Given the description of an element on the screen output the (x, y) to click on. 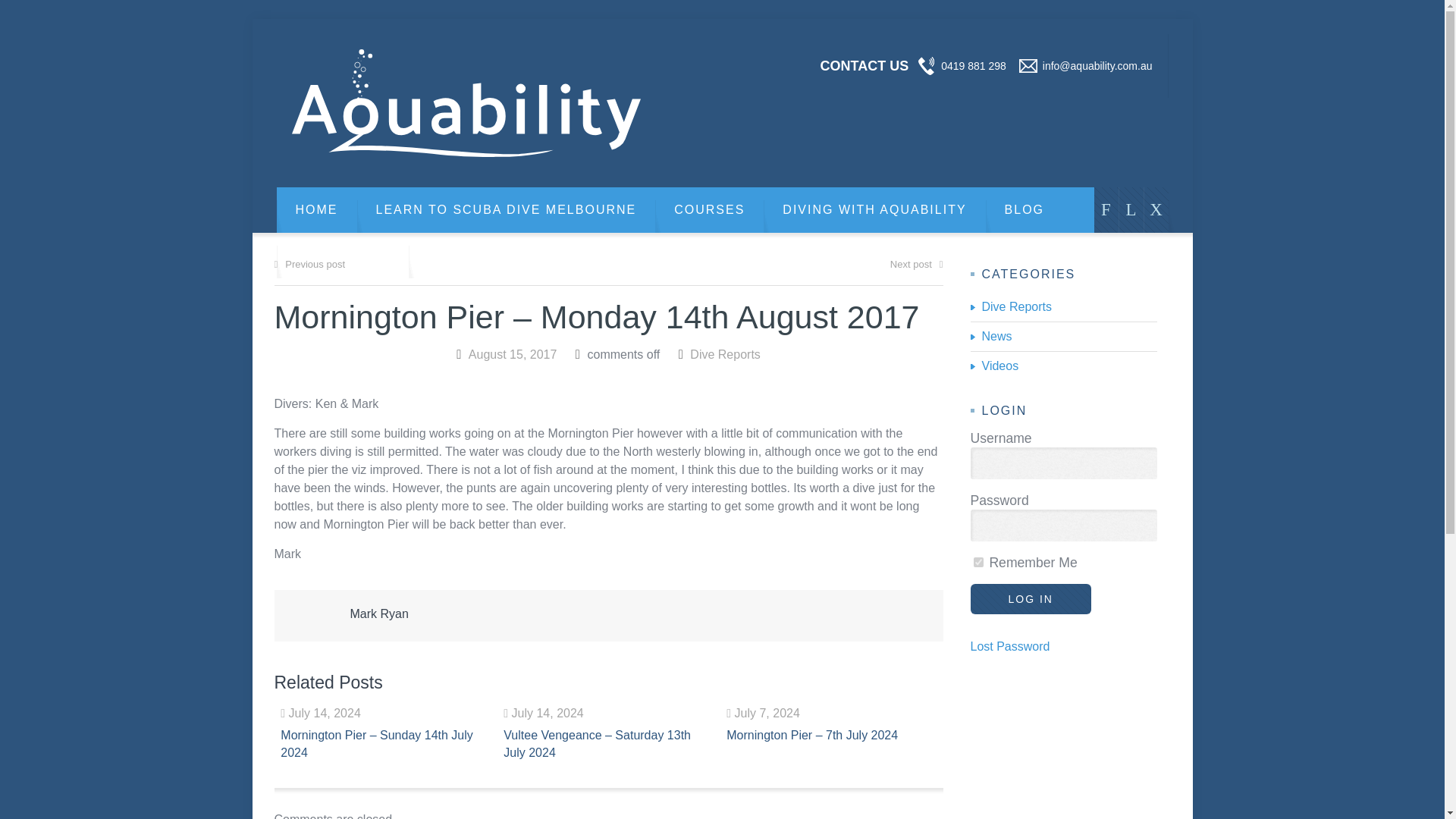
forever (979, 562)
DIVING WITH AQUABILITY (873, 209)
BLOG (1023, 209)
Log In (1030, 598)
0419 881 298 (973, 65)
Diving in Melbourne (465, 103)
HOME (316, 209)
LEARN TO SCUBA DIVE MELBOURNE (505, 209)
COURSES (708, 209)
